Given the description of an element on the screen output the (x, y) to click on. 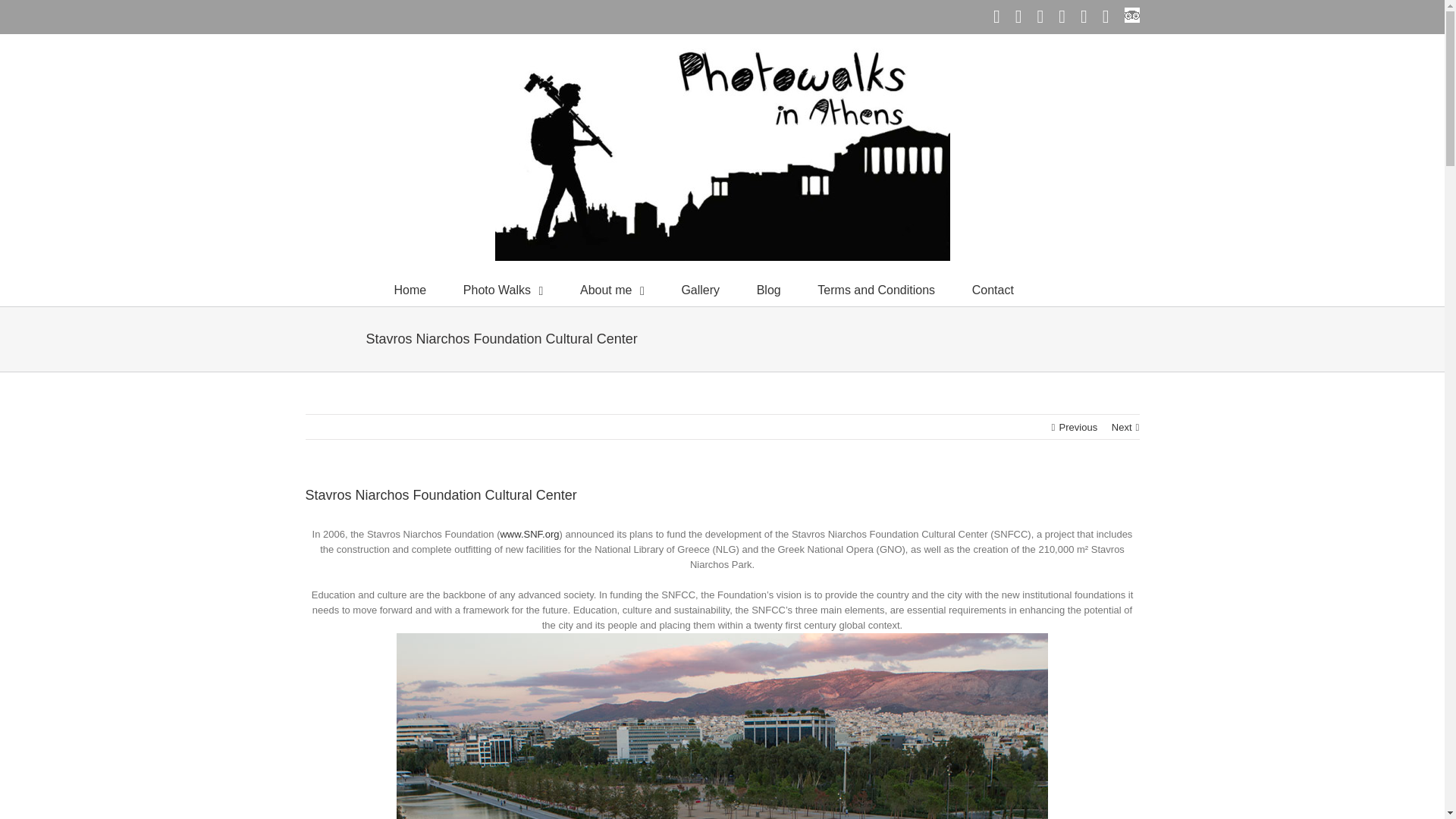
About me (612, 288)
Terms and Conditions (875, 288)
Gallery (700, 288)
Home (410, 288)
Contact (992, 288)
Photo Walks (503, 288)
